Given the description of an element on the screen output the (x, y) to click on. 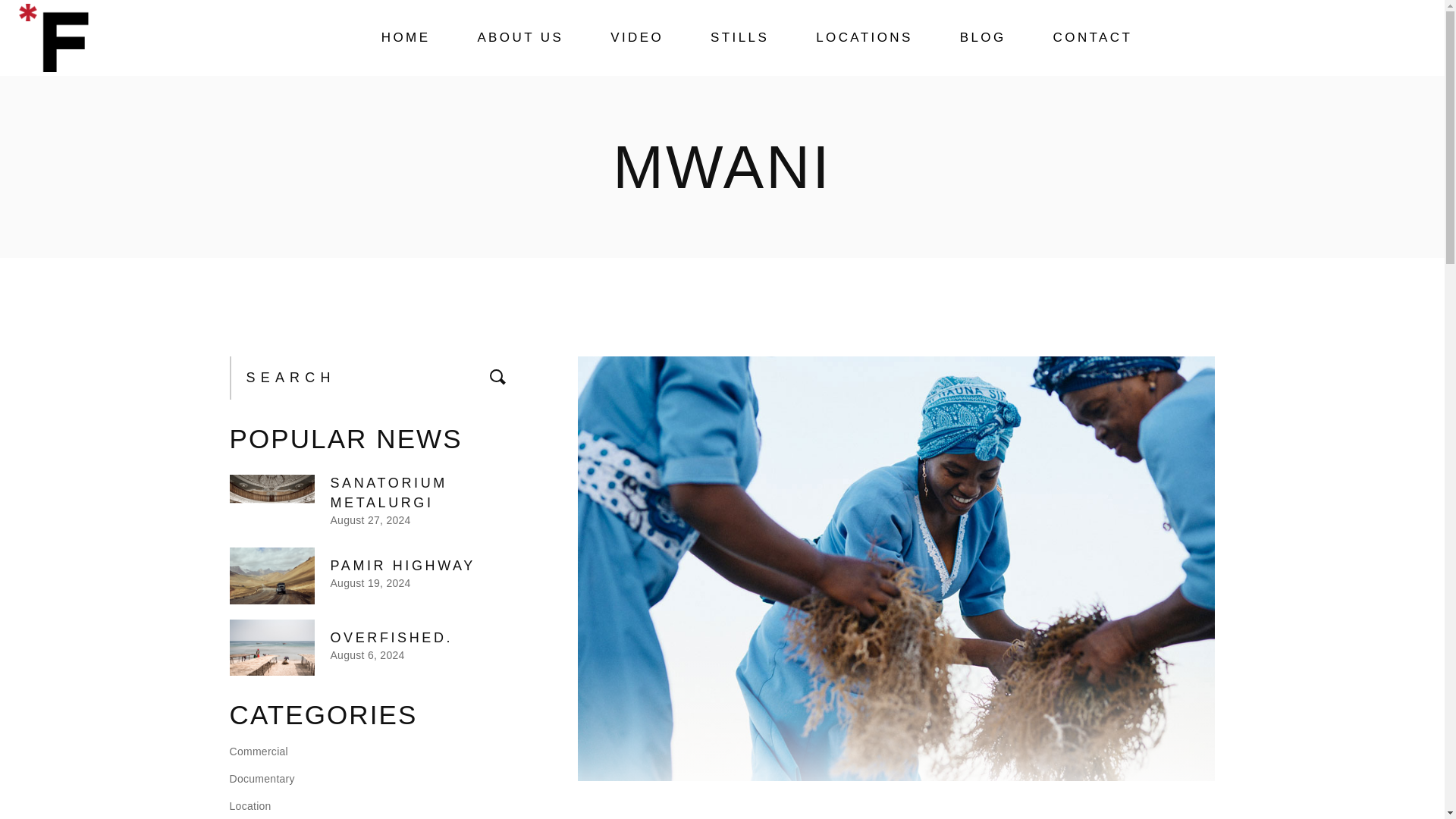
LOCATIONS (863, 38)
CONTACT (1092, 38)
ABOUT US (520, 38)
